Given the description of an element on the screen output the (x, y) to click on. 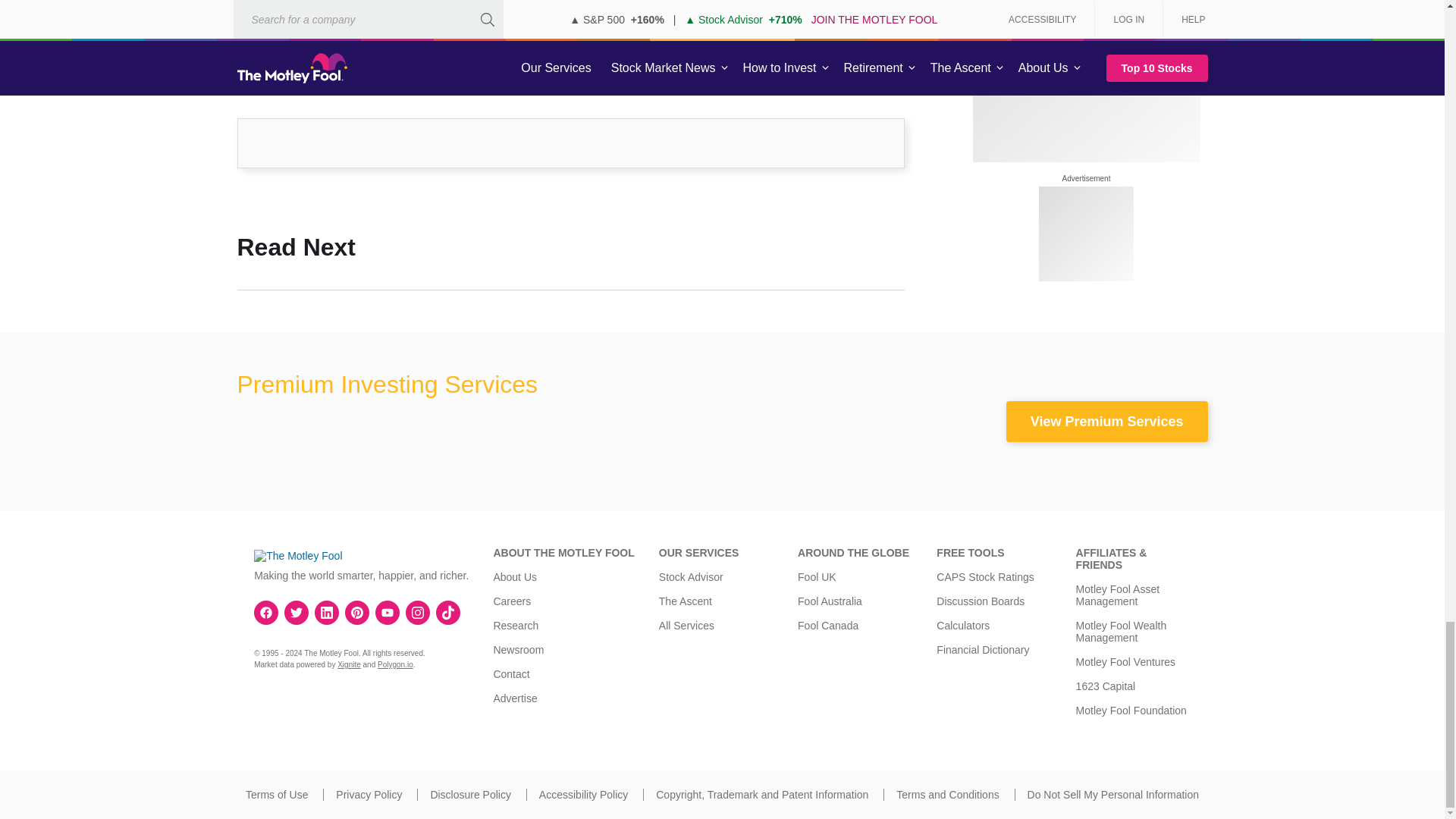
Accessibility Policy (582, 794)
Privacy Policy (368, 794)
Copyright, Trademark and Patent Information (761, 794)
Terms and Conditions (947, 794)
Do Not Sell My Personal Information. (1112, 794)
Terms of Use (276, 794)
Disclosure Policy (470, 794)
